Given the description of an element on the screen output the (x, y) to click on. 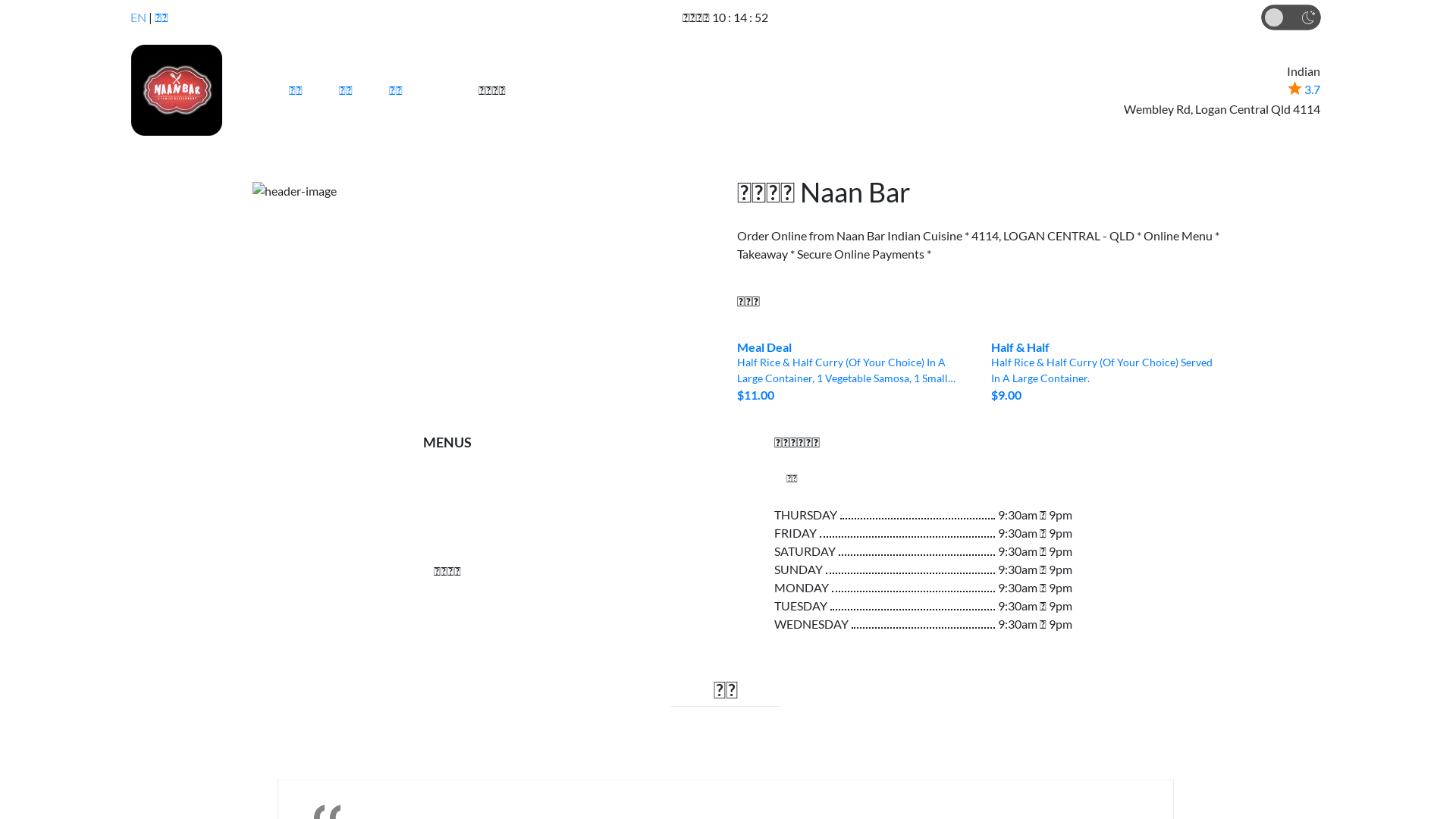
EN Element type: text (138, 16)
3.7 Element type: text (1303, 88)
